Given the description of an element on the screen output the (x, y) to click on. 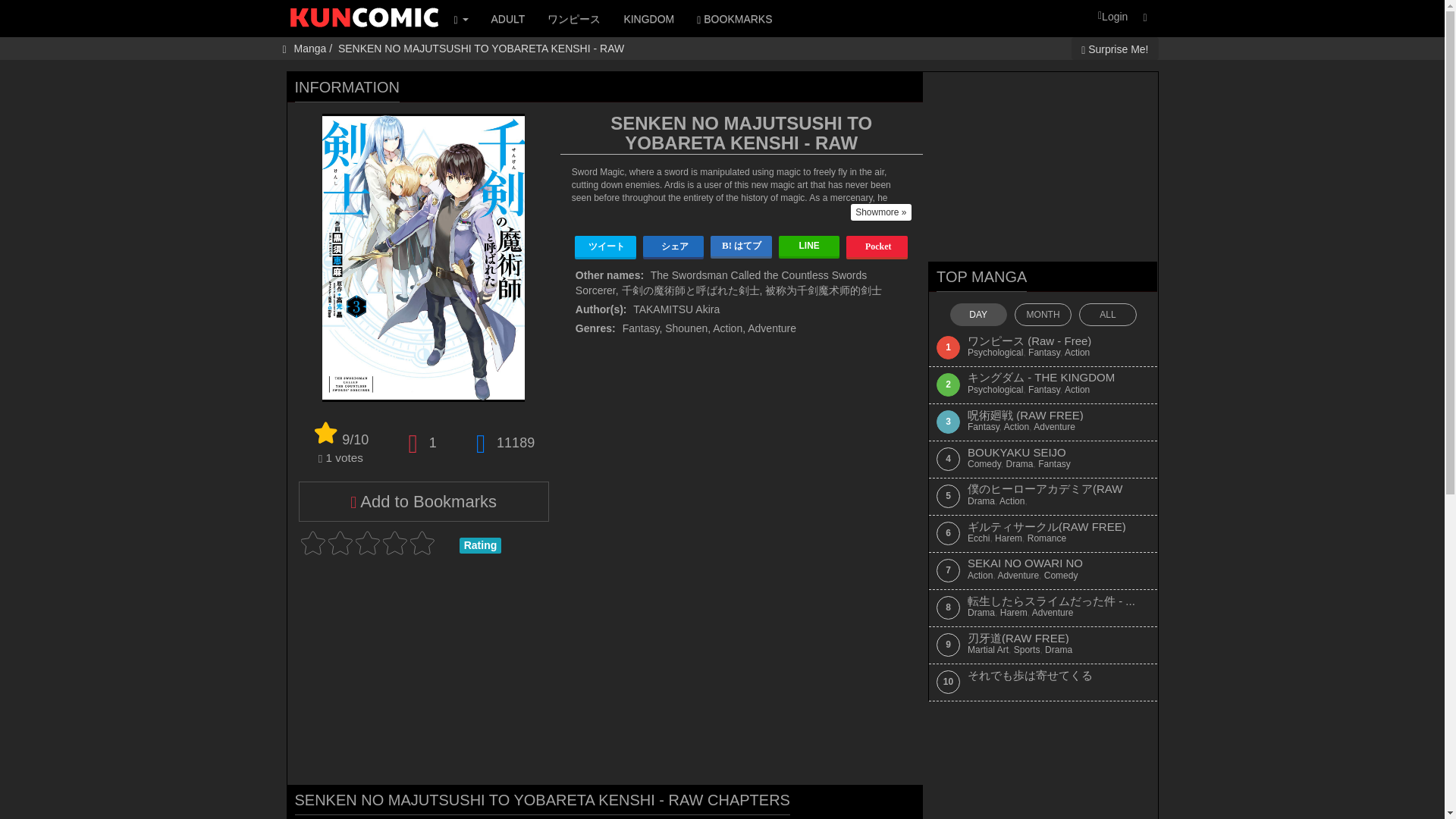
Kuncomic (363, 23)
BOOKMARKS (734, 18)
Read Free Manga (363, 23)
KINGDOM (648, 18)
ADULT (508, 18)
